Given the description of an element on the screen output the (x, y) to click on. 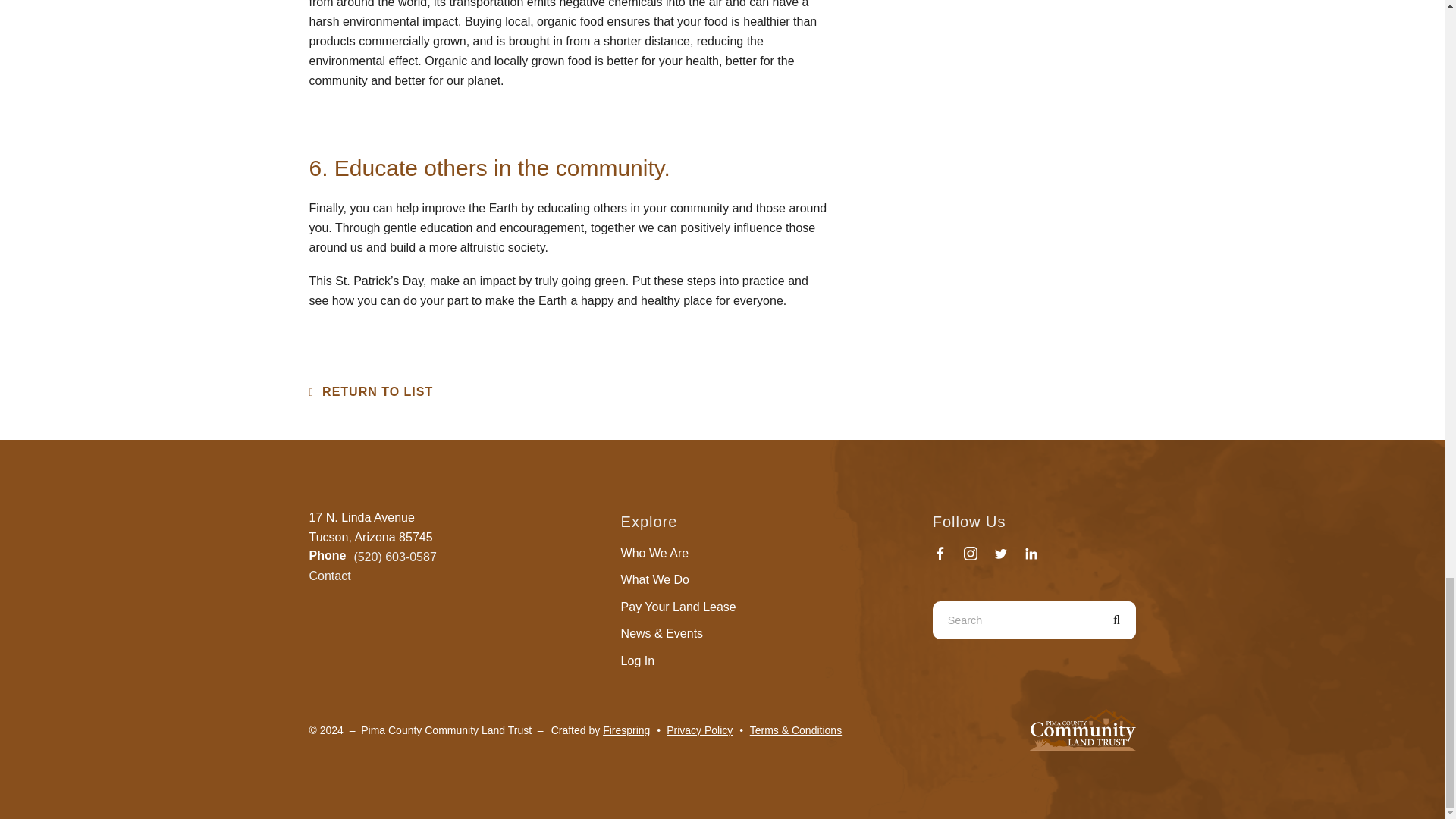
What We Do (654, 579)
Log In (637, 660)
Firespring (625, 729)
Pay Your Land Lease (678, 606)
logo (1082, 730)
RETURN TO LIST (370, 391)
Privacy Policy (699, 729)
Who We Are (654, 553)
search (1116, 620)
search (1116, 620)
Contact (329, 575)
